Given the description of an element on the screen output the (x, y) to click on. 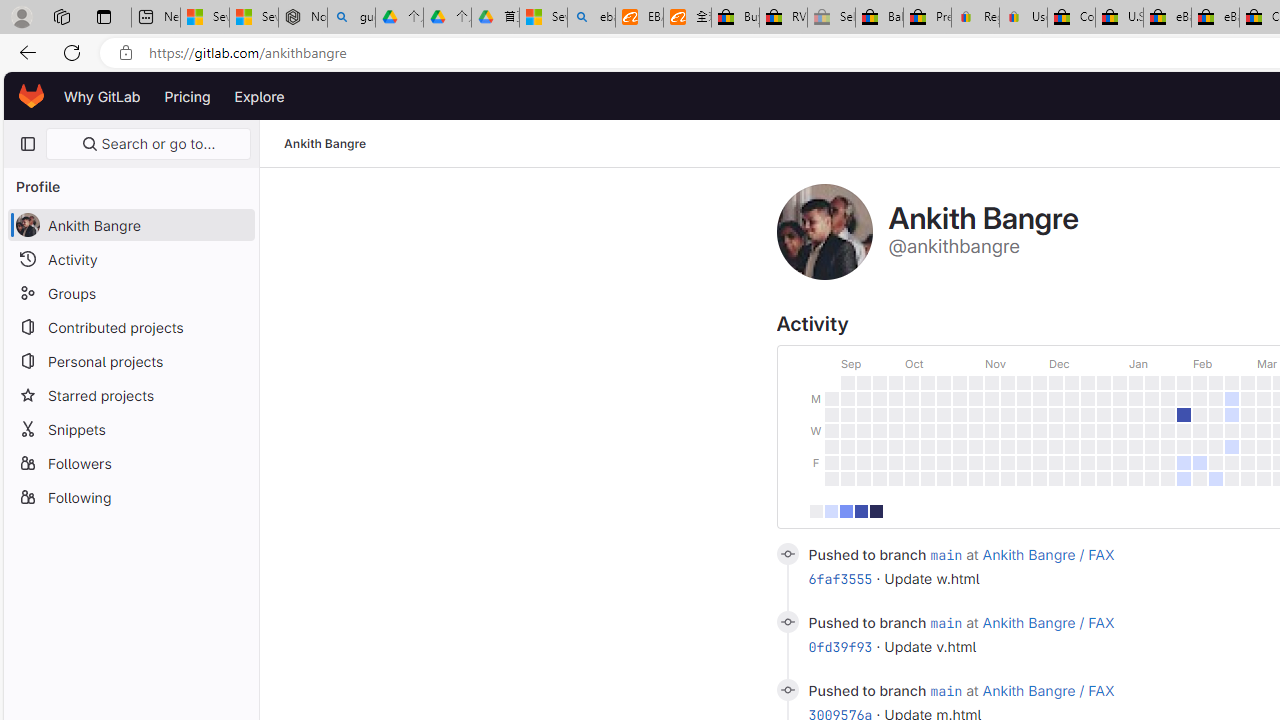
1-9 contributions (831, 510)
Personal Profile (21, 16)
Ankith Bangre (325, 143)
